Given the description of an element on the screen output the (x, y) to click on. 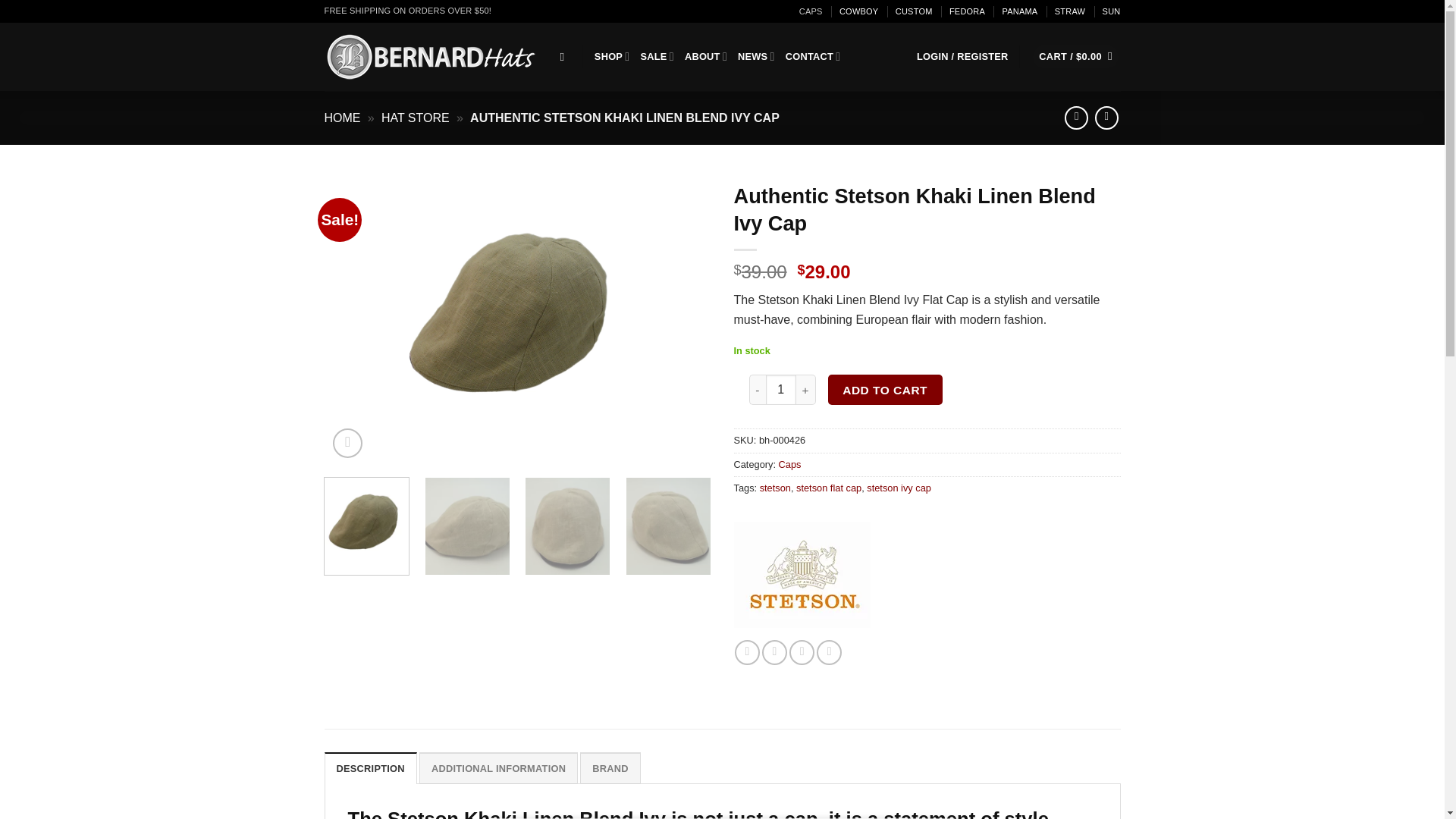
COWBOY (858, 11)
CAPS (810, 11)
Authentic Stetson Khaki Linen Blend Ivy Cap (517, 320)
Bernard Hats - The Perfect Hat for Every Occasion (430, 56)
Login (963, 56)
SUN (1111, 11)
PANAMA (1018, 11)
1 (780, 389)
FEDORA (967, 11)
SHOP (612, 56)
